Given the description of an element on the screen output the (x, y) to click on. 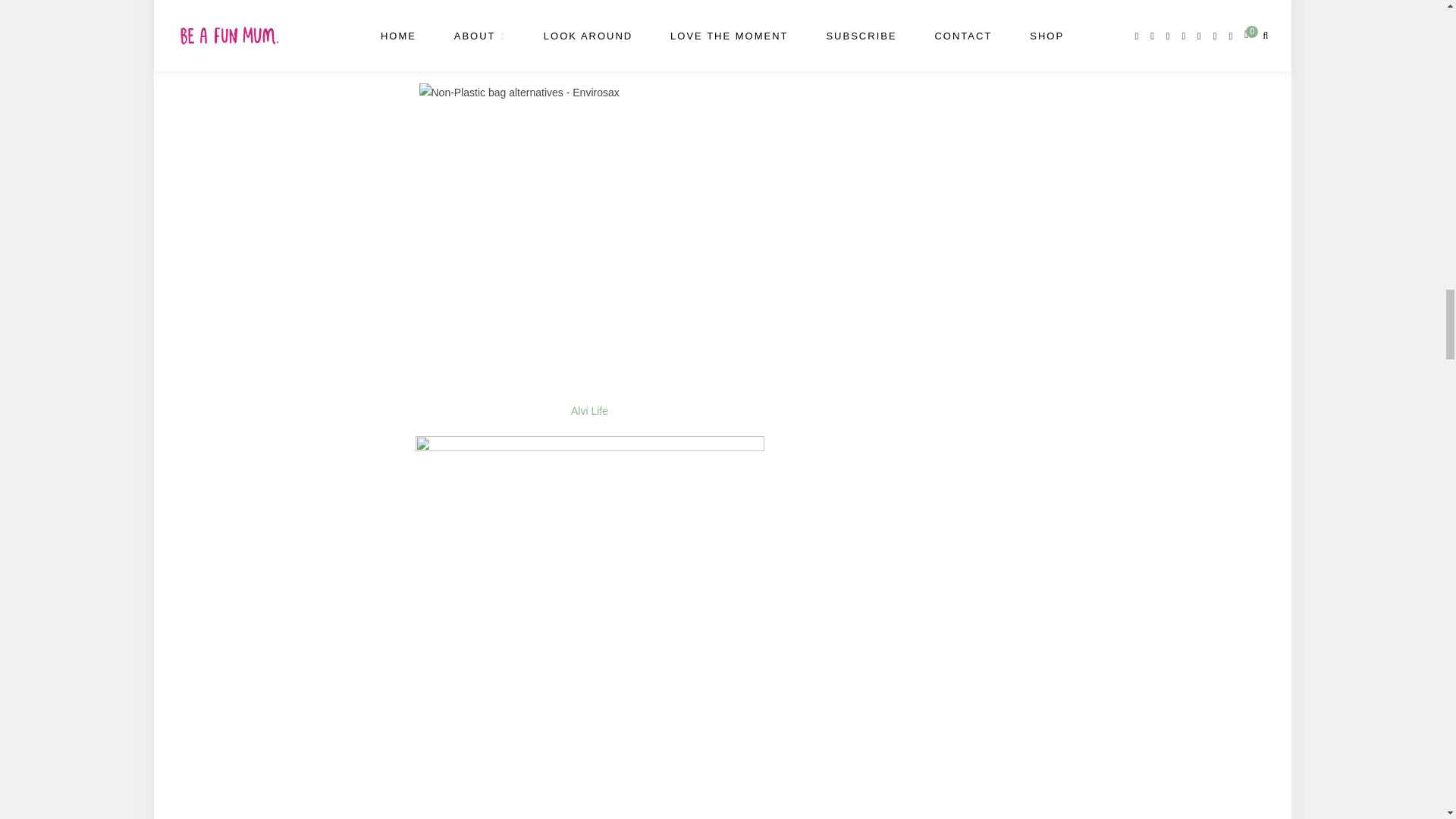
Alvi Life (589, 410)
Envirosax (589, 59)
